Given the description of an element on the screen output the (x, y) to click on. 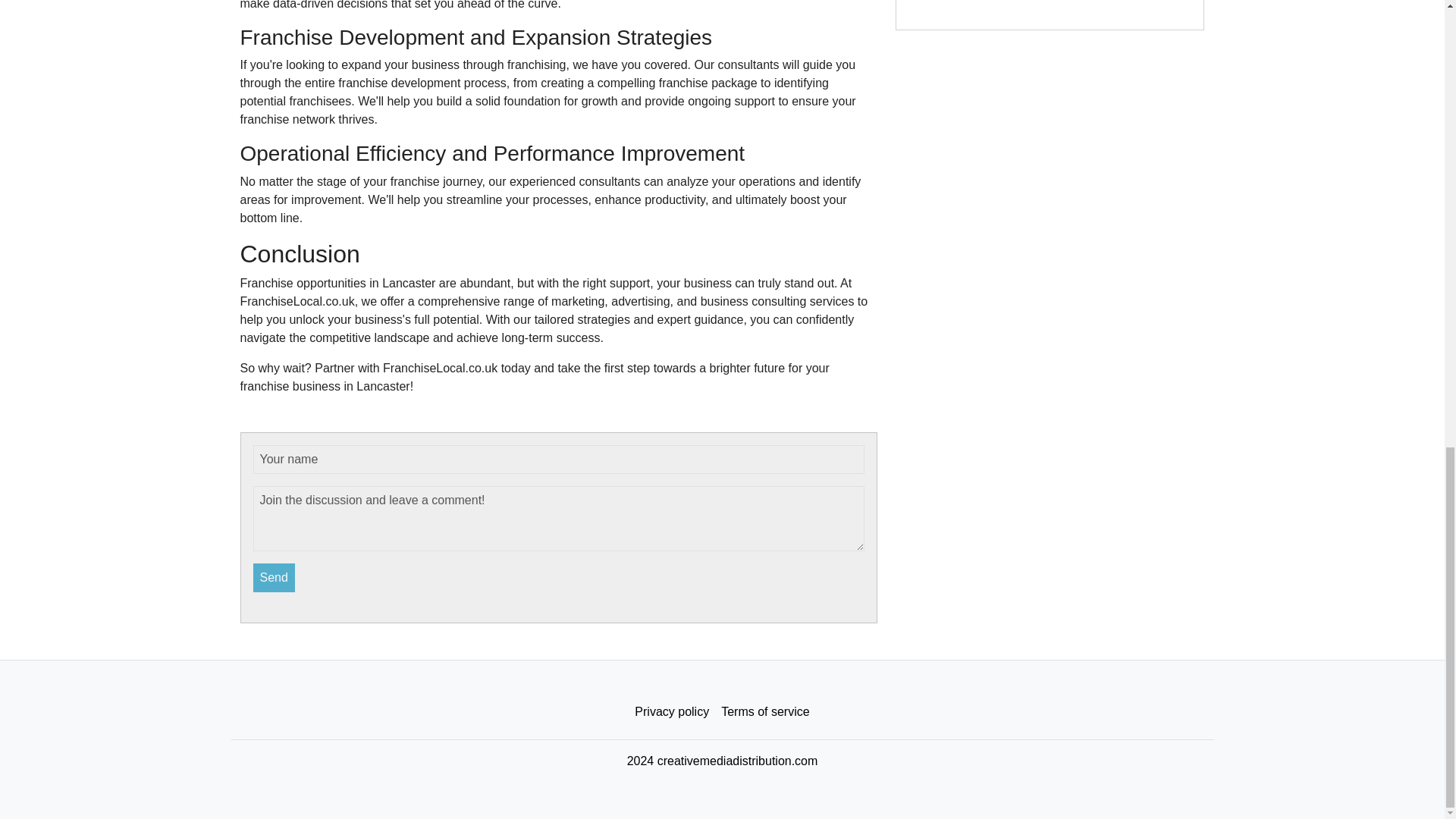
Privacy policy (671, 711)
Send (274, 577)
Terms of service (764, 711)
Send (274, 577)
